Given the description of an element on the screen output the (x, y) to click on. 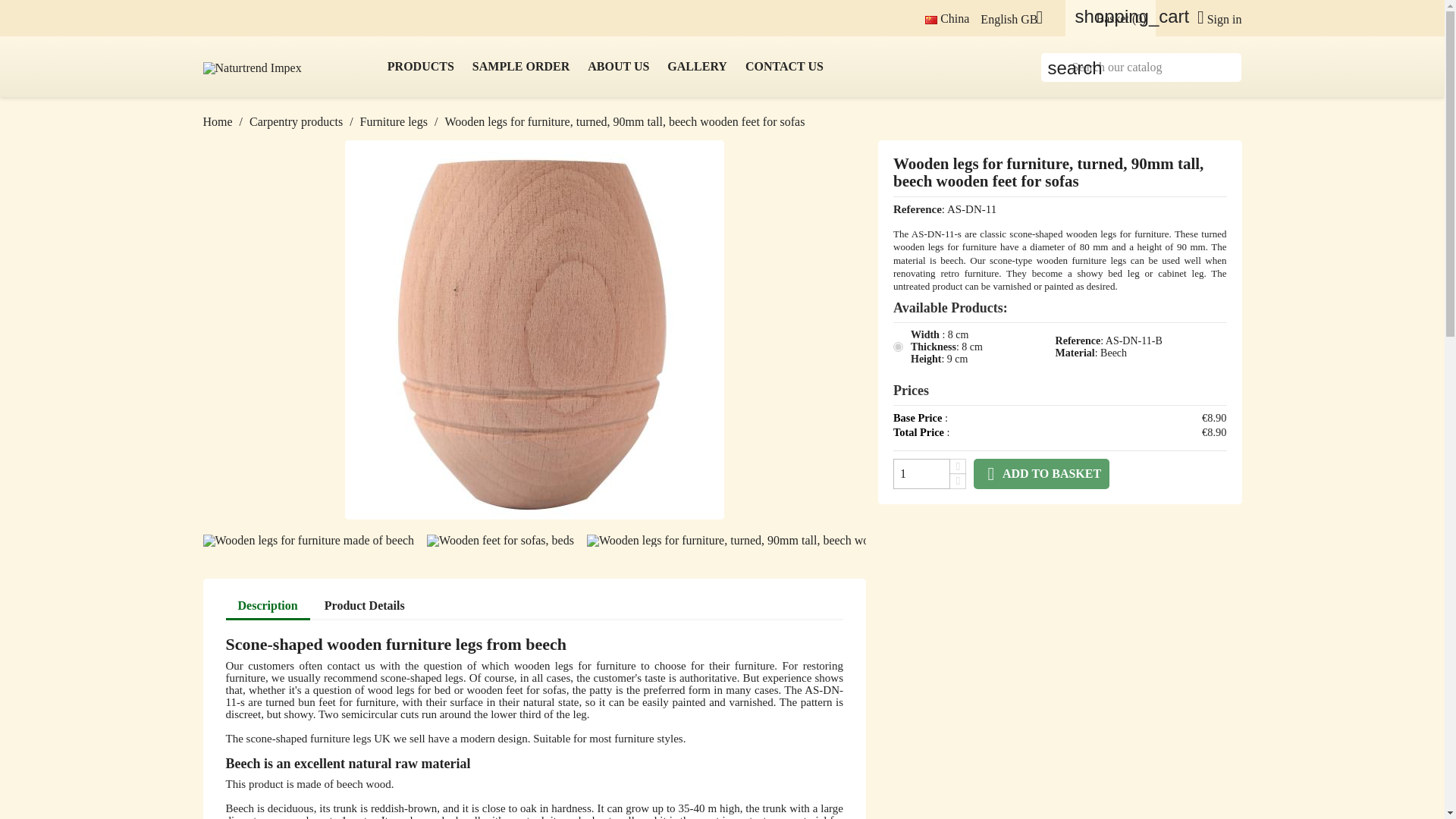
PRODUCTS (420, 66)
1 (921, 473)
Log in to your customer account (1213, 19)
904 (897, 347)
Wooden feet for sofas, beds (499, 540)
Wooden legs for furniture made of beech (308, 540)
